Given the description of an element on the screen output the (x, y) to click on. 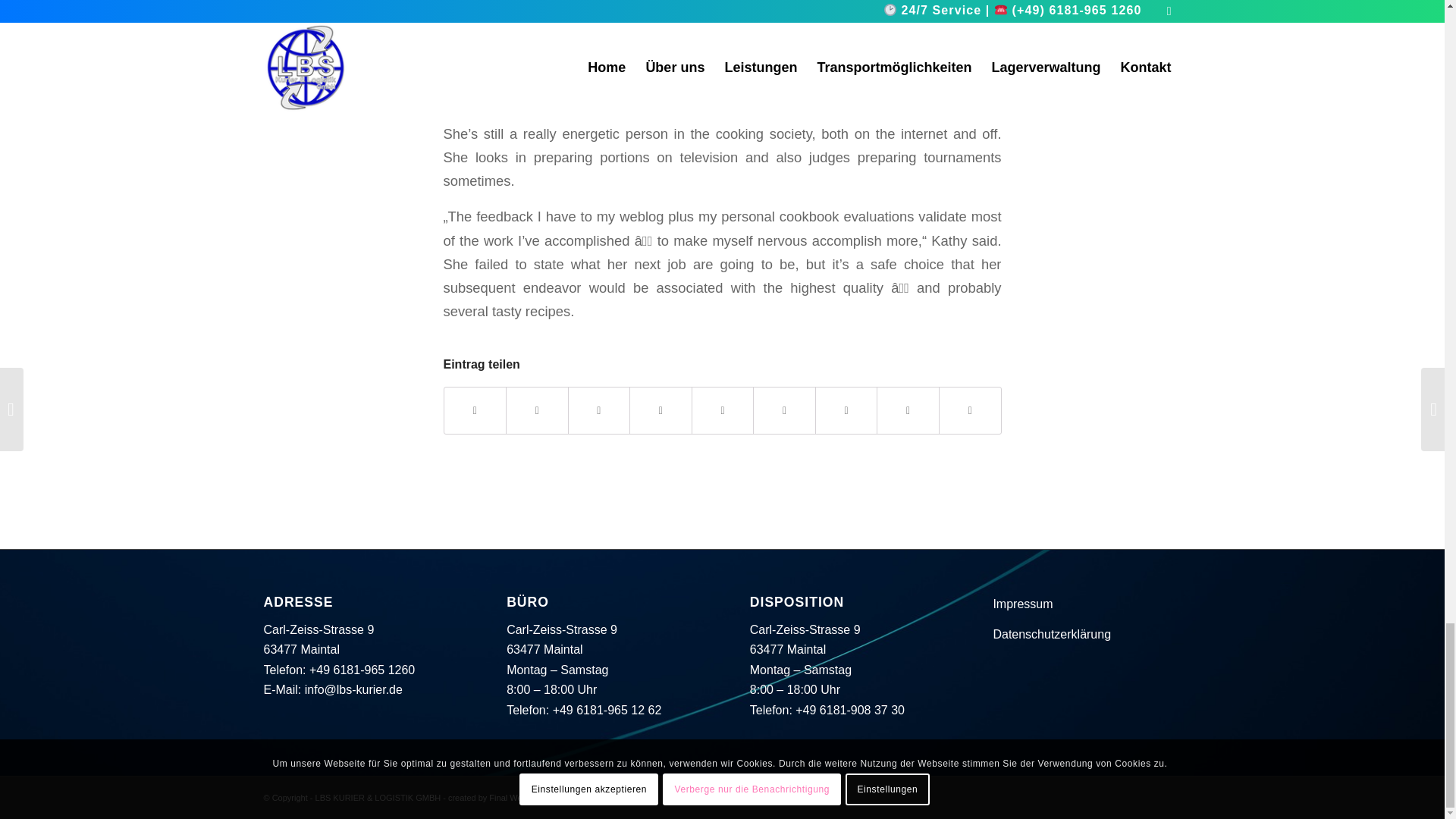
Impressum (1022, 603)
Final Webdesign (520, 797)
